Given the description of an element on the screen output the (x, y) to click on. 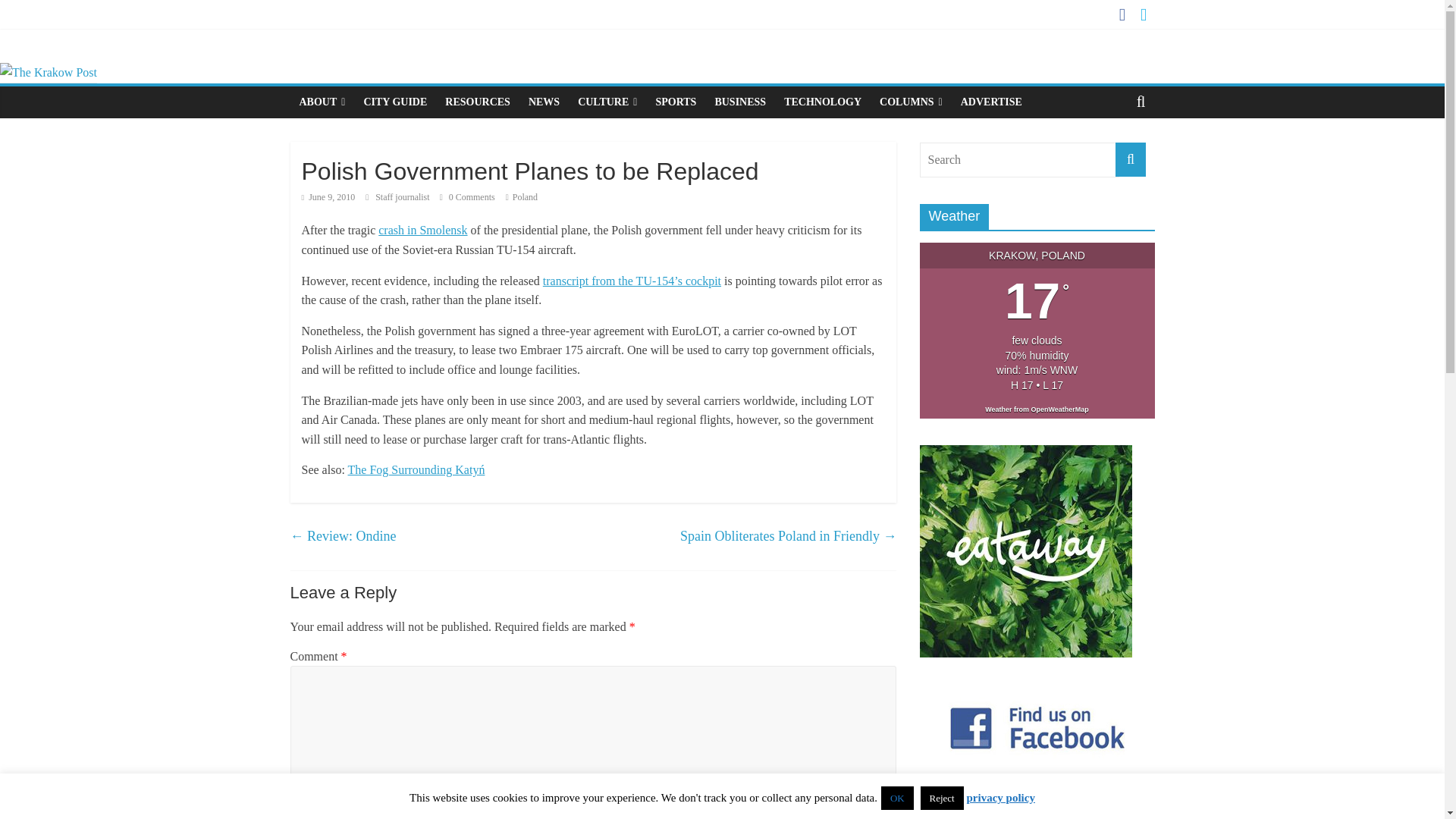
ABOUT (321, 101)
RESOURCES (477, 101)
Staff journalist (402, 196)
NEWS (544, 101)
The Krakow Post (48, 72)
BUSINESS (739, 101)
CULTURE (607, 101)
TECHNOLOGY (822, 101)
4:44 am (328, 196)
CITY GUIDE (394, 101)
SPORTS (675, 101)
